Given the description of an element on the screen output the (x, y) to click on. 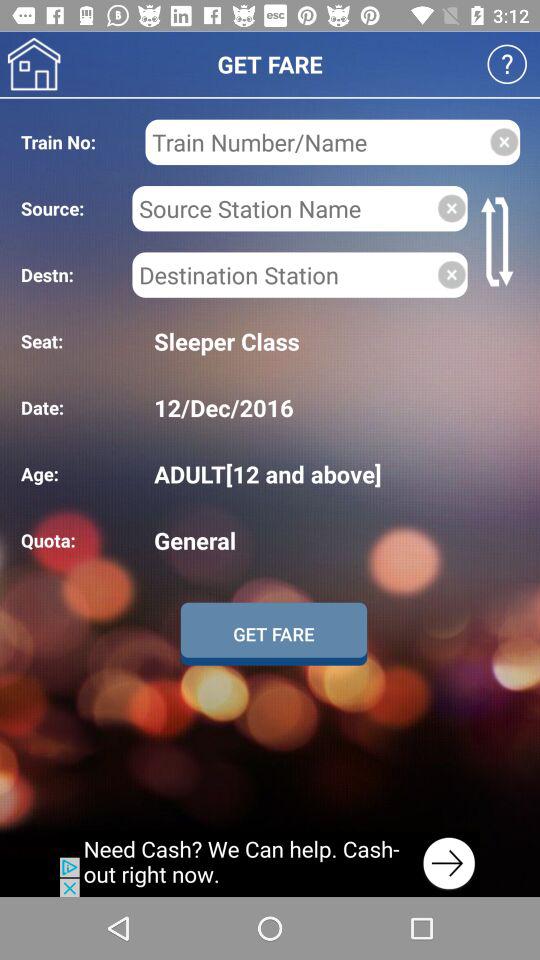
clear destn textbox (451, 274)
